Given the description of an element on the screen output the (x, y) to click on. 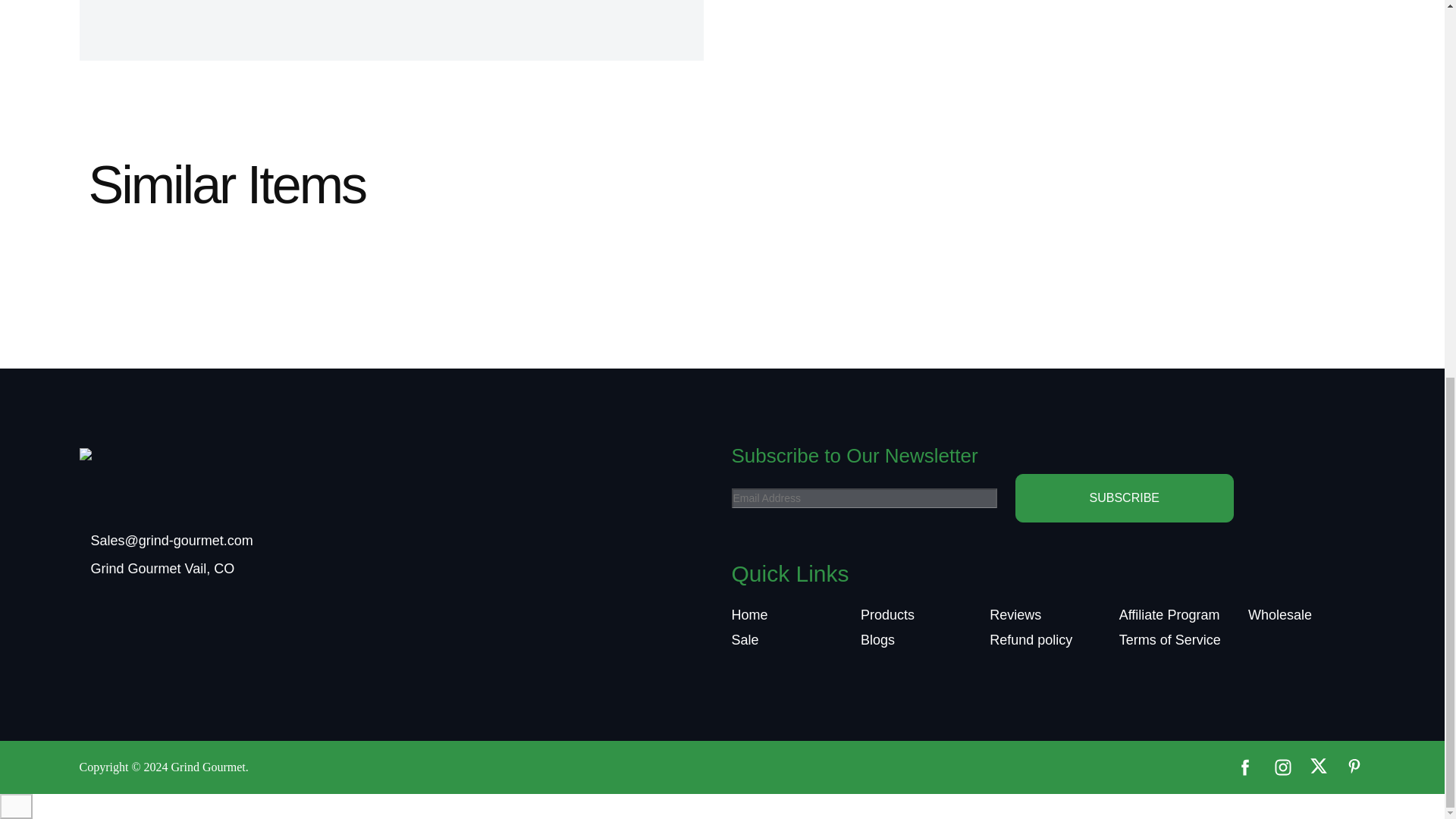
Instagram (1282, 766)
Blogs (877, 639)
Twitter (1317, 764)
Affiliate Program (1169, 614)
Pinterest (1353, 764)
Facebook (1244, 766)
Sale (744, 639)
Home (748, 614)
Reviews (1015, 614)
Wholesale (1279, 614)
